Given the description of an element on the screen output the (x, y) to click on. 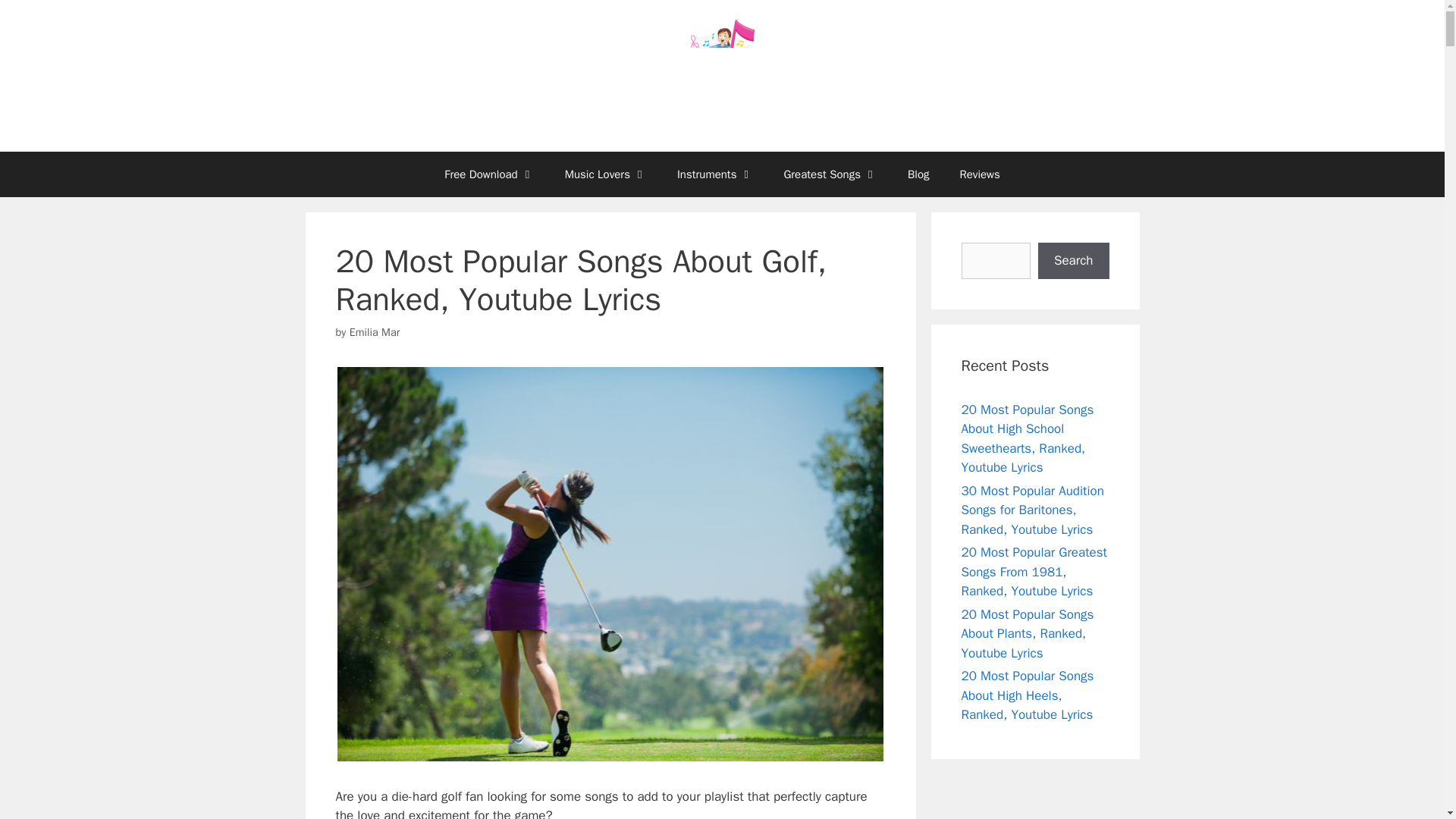
Emilia Mar (374, 332)
View all posts by Emilia Mar (374, 332)
Blog (917, 174)
Instruments (715, 174)
Greatest Songs (830, 174)
Reviews (978, 174)
Music Lovers (606, 174)
Free Download (488, 174)
